Given the description of an element on the screen output the (x, y) to click on. 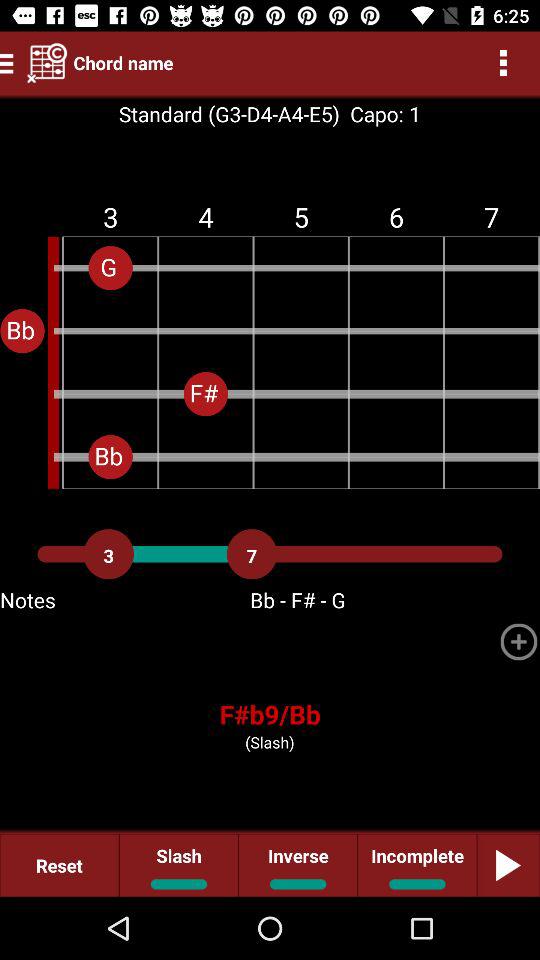
add chord (519, 642)
